Given the description of an element on the screen output the (x, y) to click on. 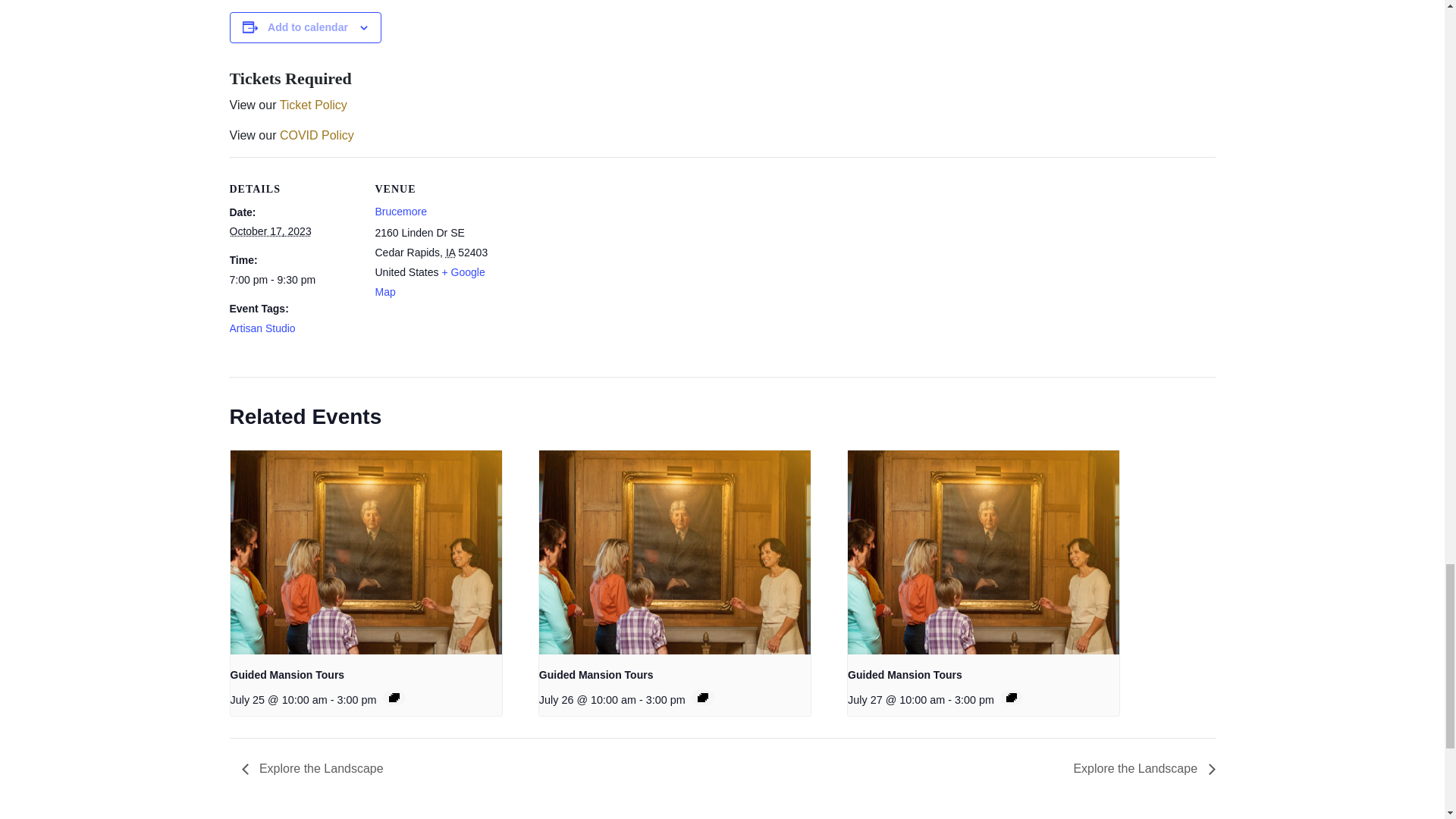
Iowa (449, 252)
Event Series (702, 696)
2023-10-17 (292, 279)
Google maps iframe displaying the address to Brucemore (599, 261)
2023-10-17 (269, 231)
Click to view a Google Map (429, 282)
Event Series (393, 696)
Event Series (1011, 696)
